Given the description of an element on the screen output the (x, y) to click on. 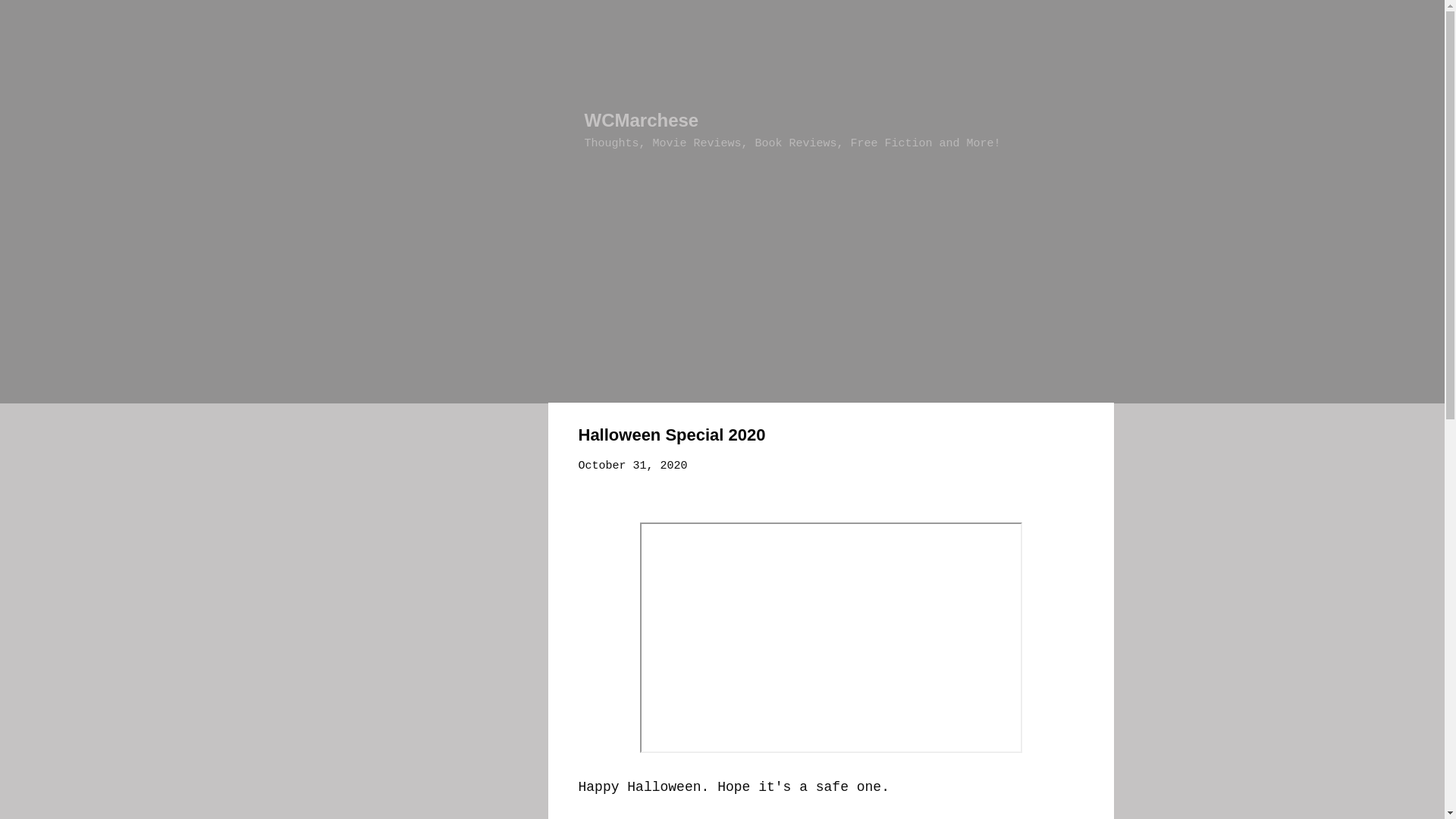
Search (26, 18)
October 31, 2020 (632, 465)
WCMarchese (640, 119)
permanent link (632, 465)
